Given the description of an element on the screen output the (x, y) to click on. 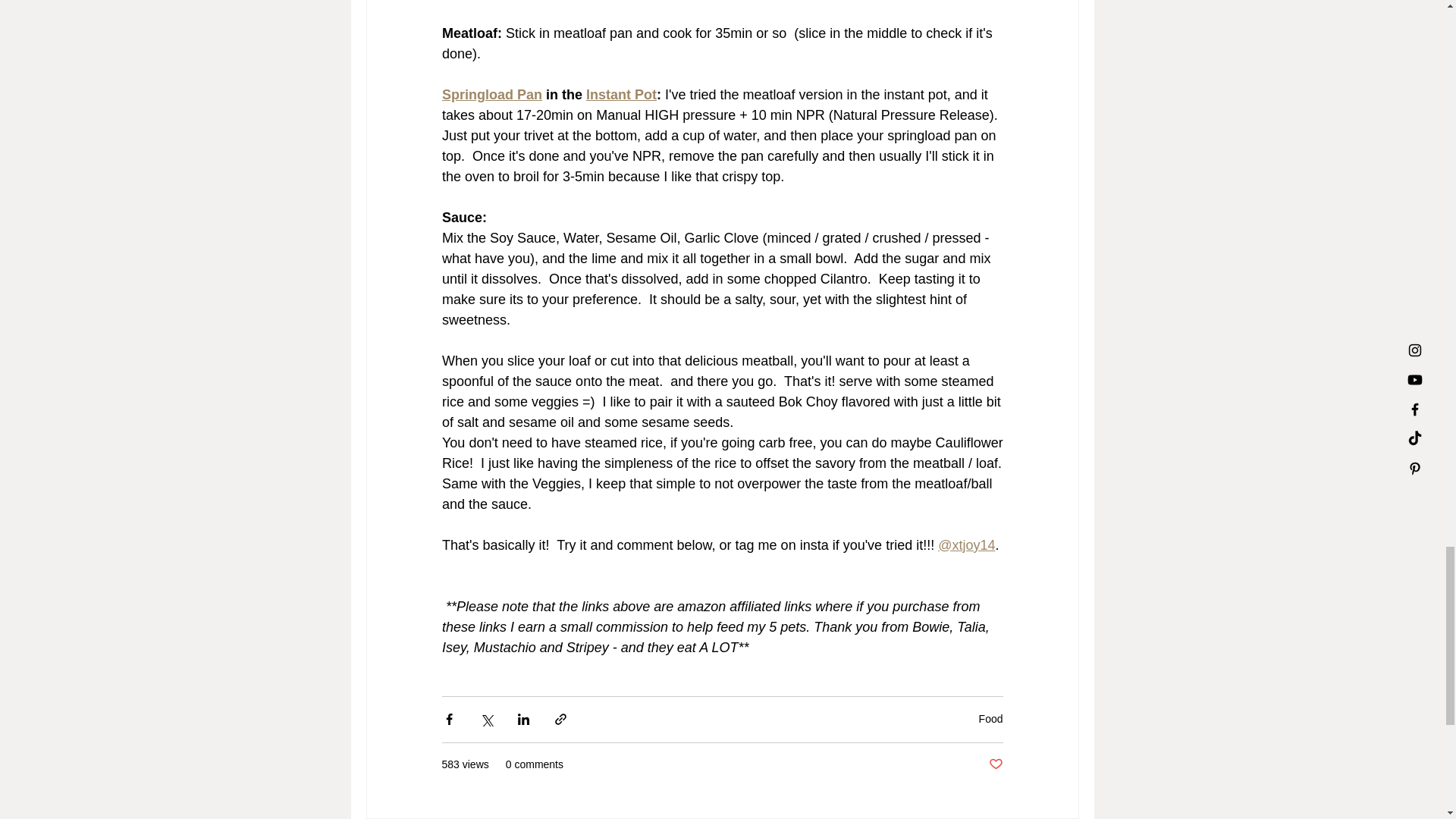
Instant Pot (621, 94)
Springload Pan (491, 94)
Post not marked as liked (995, 764)
Food (990, 718)
